Given the description of an element on the screen output the (x, y) to click on. 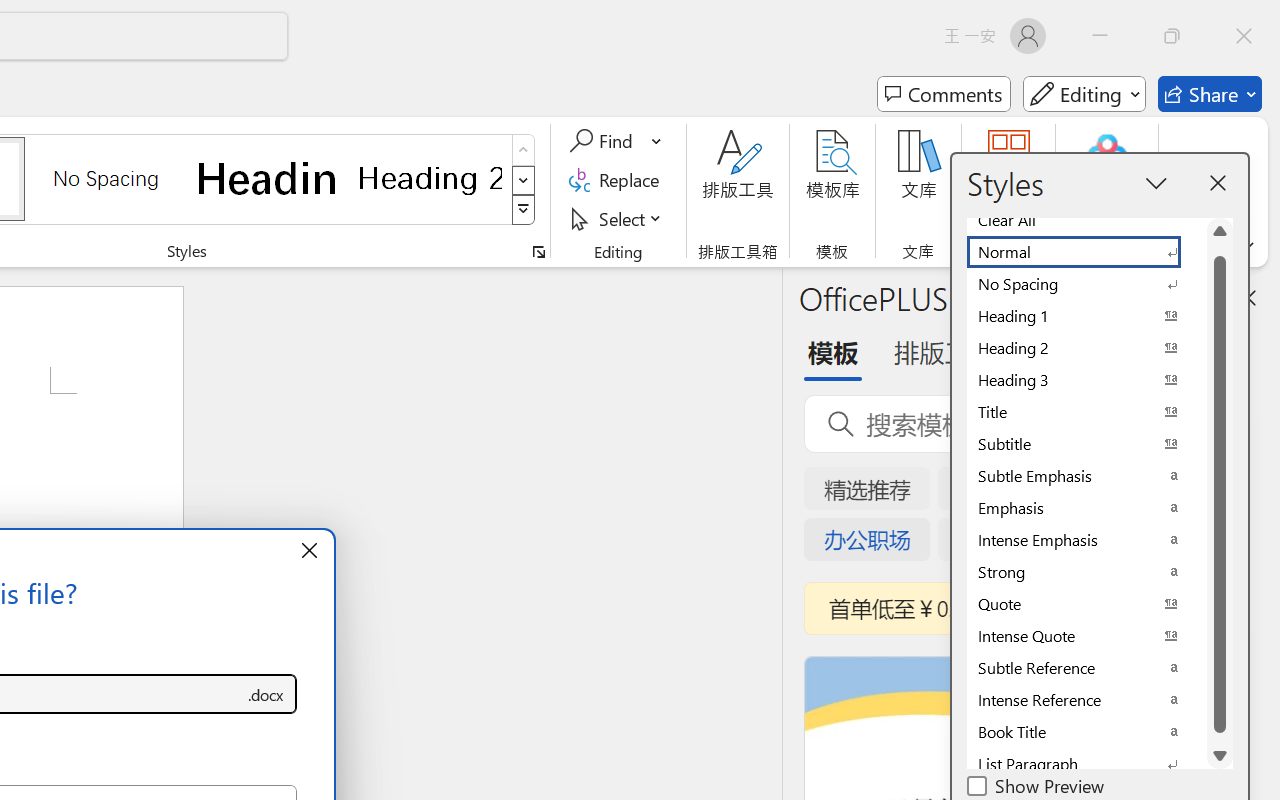
Book Title (1086, 732)
Row up (523, 150)
Intense Emphasis (1086, 540)
Styles (523, 209)
Comments (943, 94)
Replace... (617, 179)
Clear All (1086, 220)
